Given the description of an element on the screen output the (x, y) to click on. 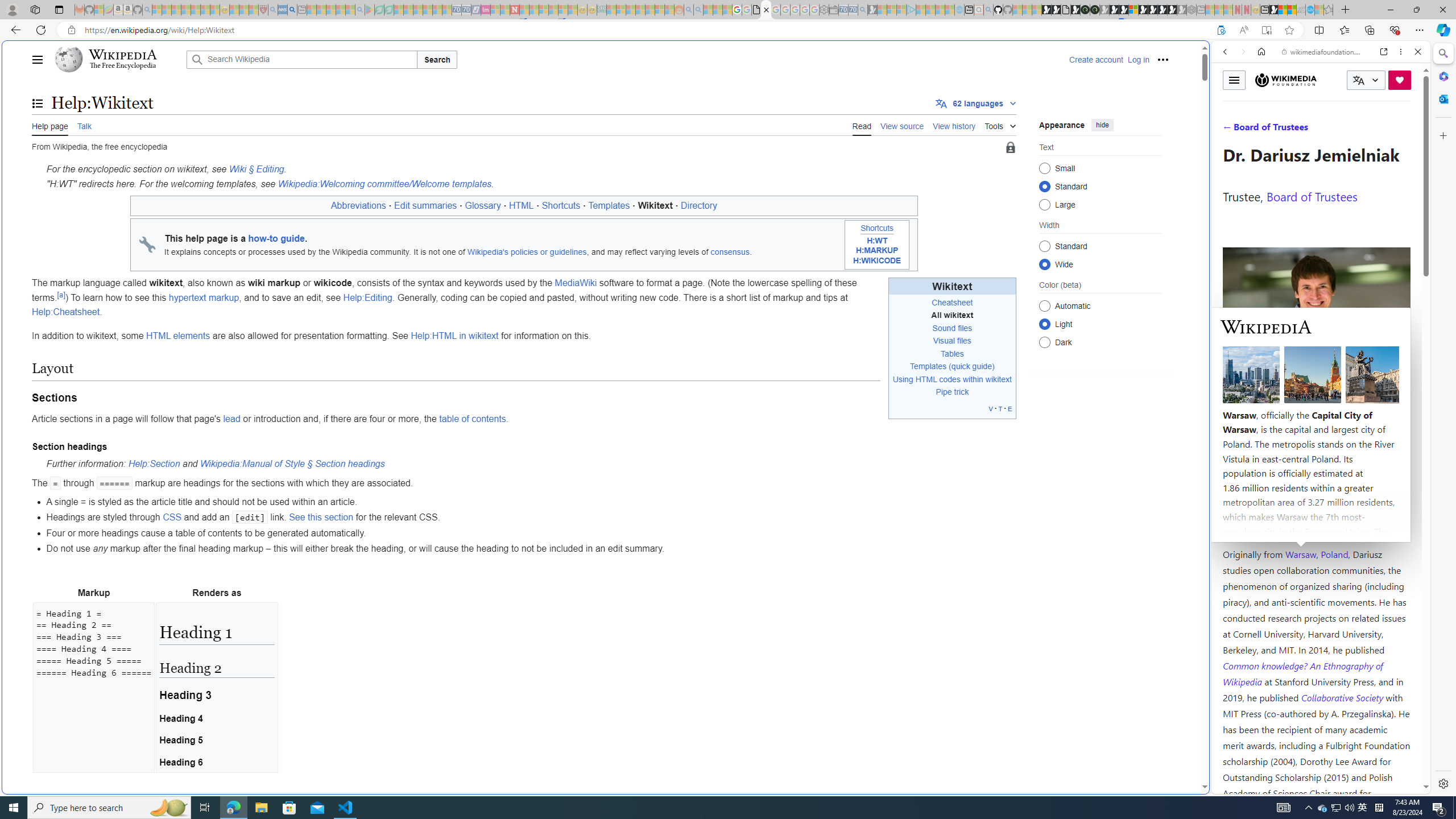
H:MARKUP (877, 250)
Latest Politics News & Archive | Newsweek.com - Sleeping (514, 9)
Tools (1000, 124)
Search or enter web address (922, 108)
Help:HTML in wikitext (454, 335)
Wiktionary (1315, 380)
Bluey: Let's Play! - Apps on Google Play - Sleeping (369, 9)
